Given the description of an element on the screen output the (x, y) to click on. 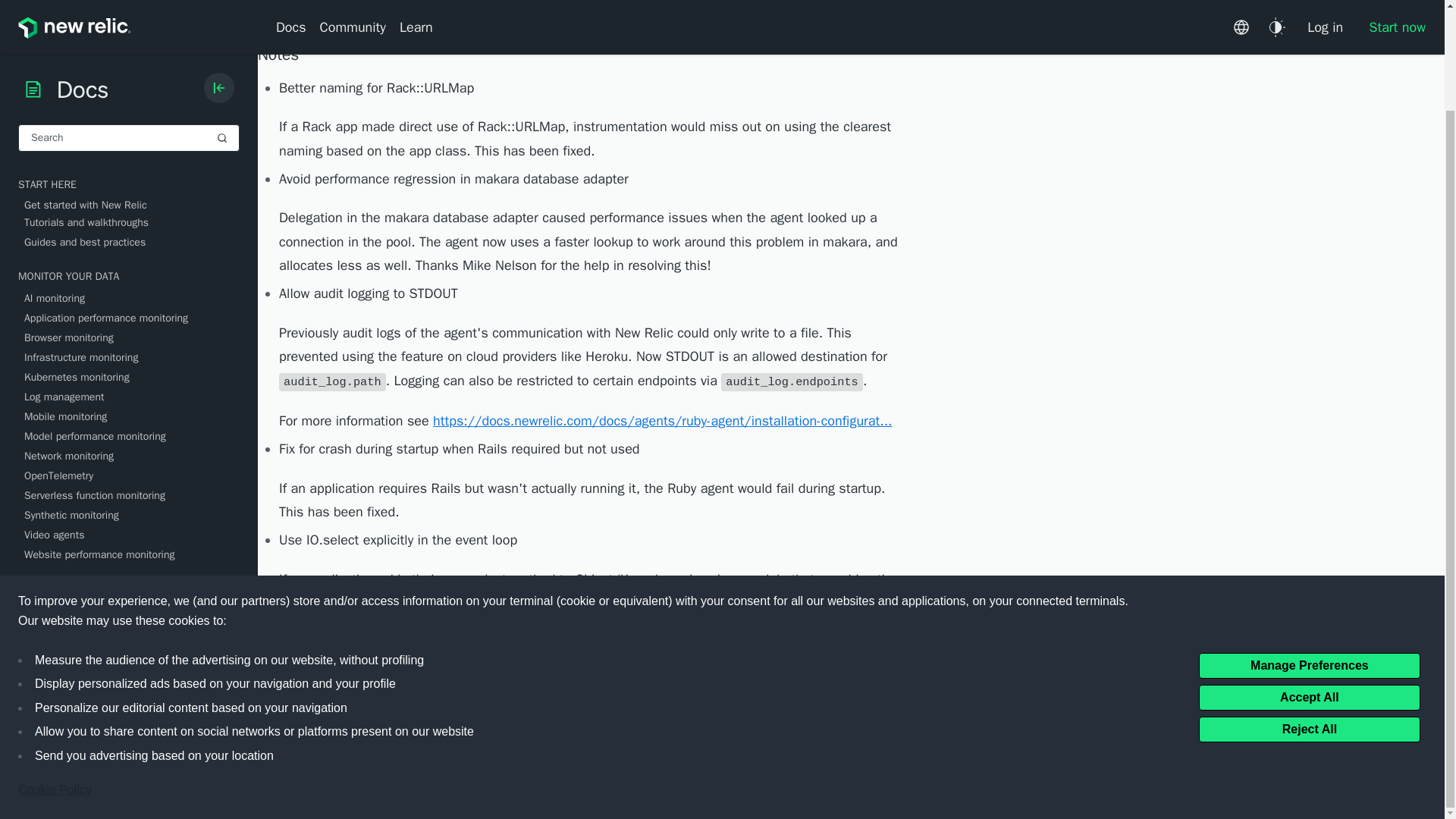
Get started with New Relic (131, 88)
Reject All (1309, 611)
Accept All (1309, 579)
Cookie Policy (54, 672)
Manage Preferences (1309, 548)
